Given the description of an element on the screen output the (x, y) to click on. 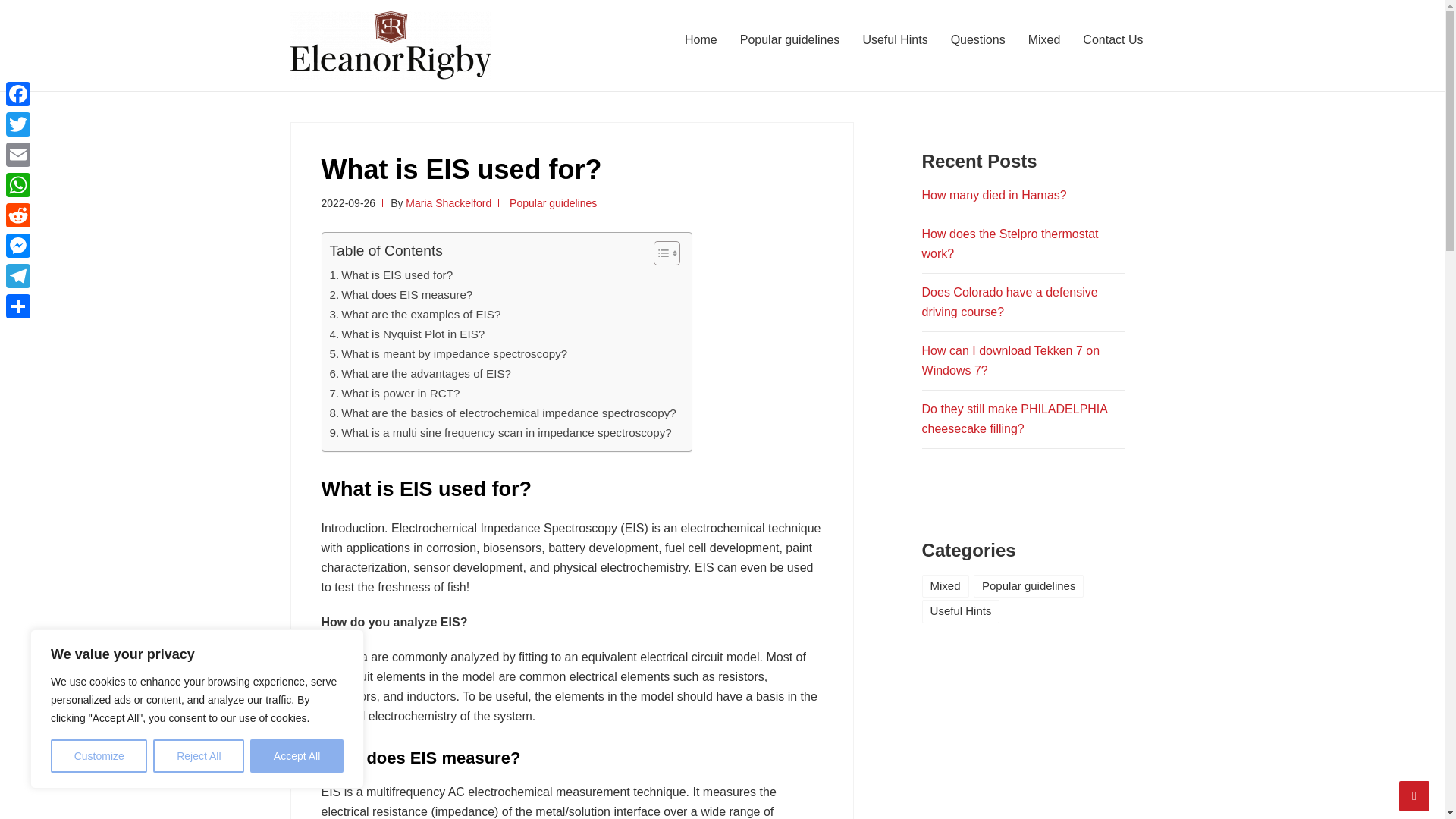
Reject All (198, 756)
What is Nyquist Plot in EIS? (406, 334)
What does EIS measure? (400, 294)
Maria Shackelford (449, 203)
What is Nyquist Plot in EIS? (406, 334)
Facebook (17, 93)
What is meant by impedance spectroscopy? (448, 353)
Useful Hints (894, 39)
Mixed (1043, 39)
